Given the description of an element on the screen output the (x, y) to click on. 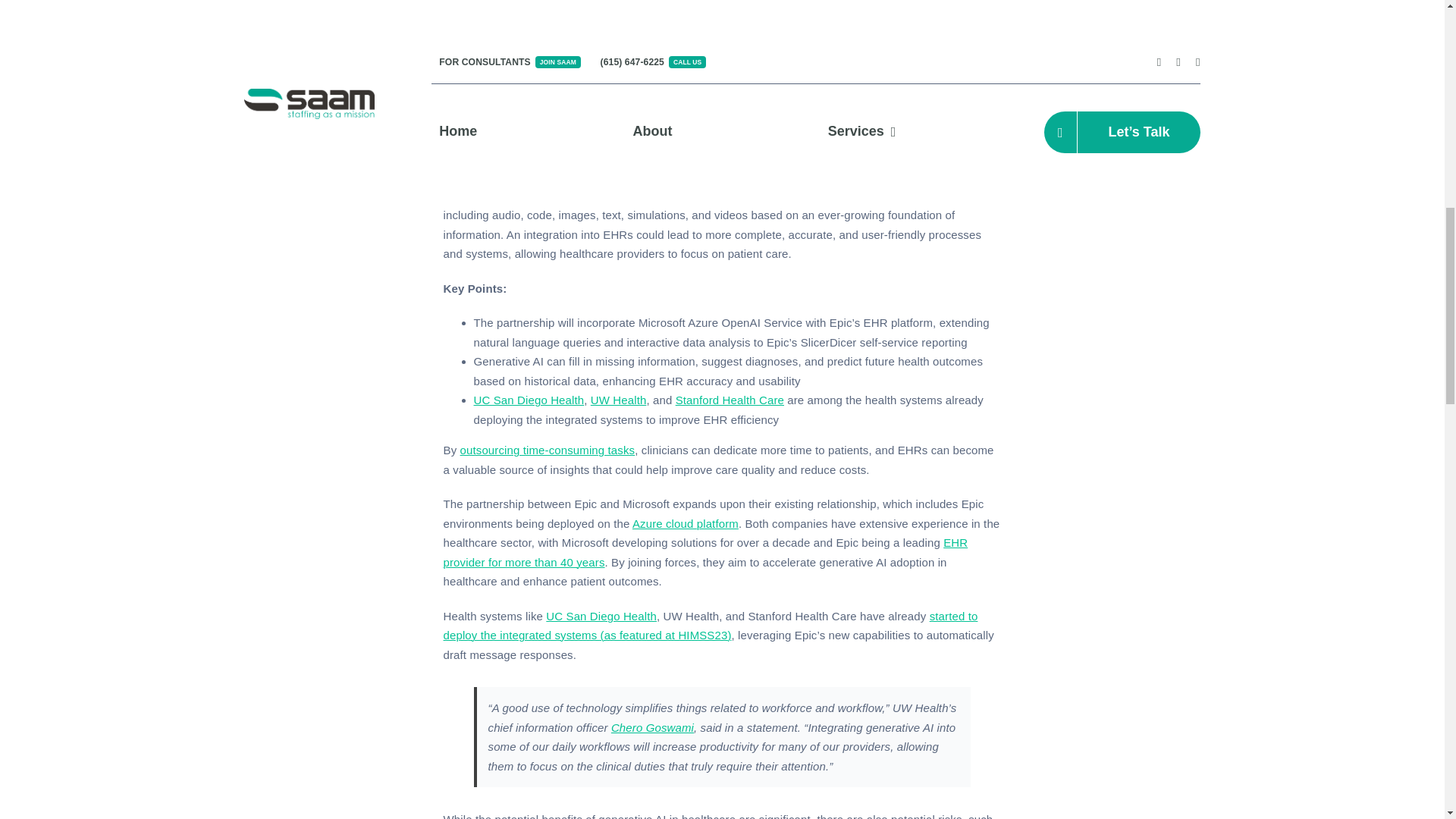
Microsoft (515, 44)
Epic (454, 44)
